Given the description of an element on the screen output the (x, y) to click on. 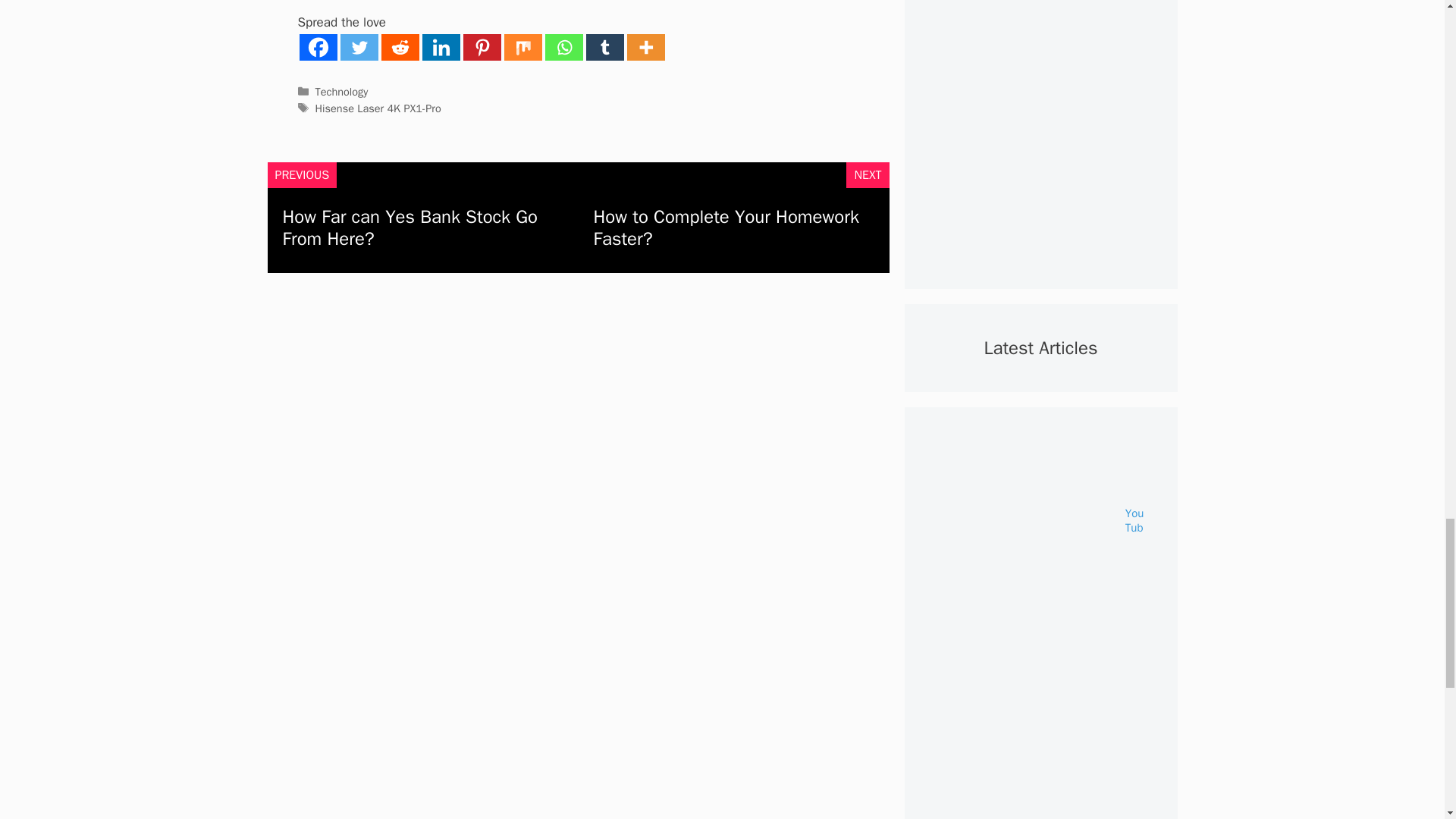
Facebook (317, 47)
Twitter (358, 47)
Reddit (399, 47)
Linkedin (441, 47)
